Given the description of an element on the screen output the (x, y) to click on. 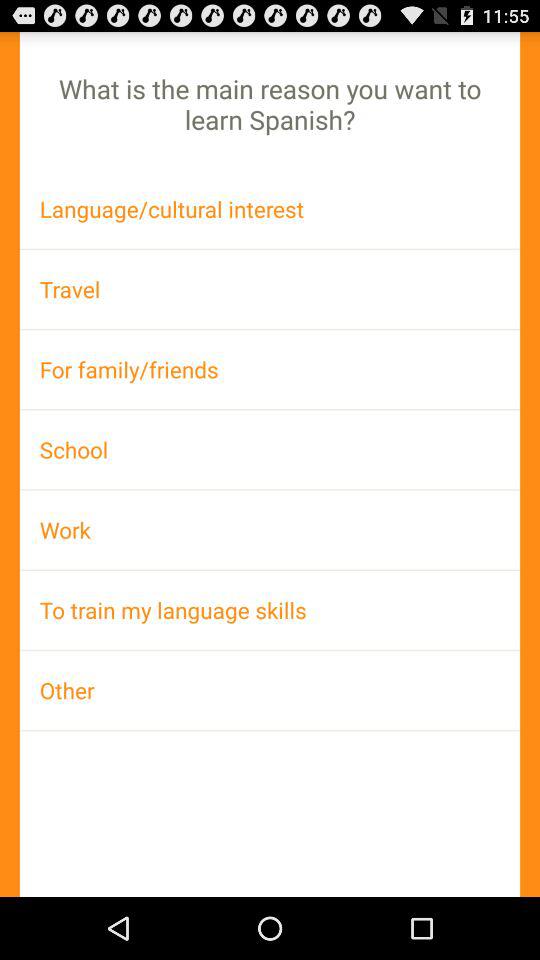
turn off to train my (269, 609)
